Given the description of an element on the screen output the (x, y) to click on. 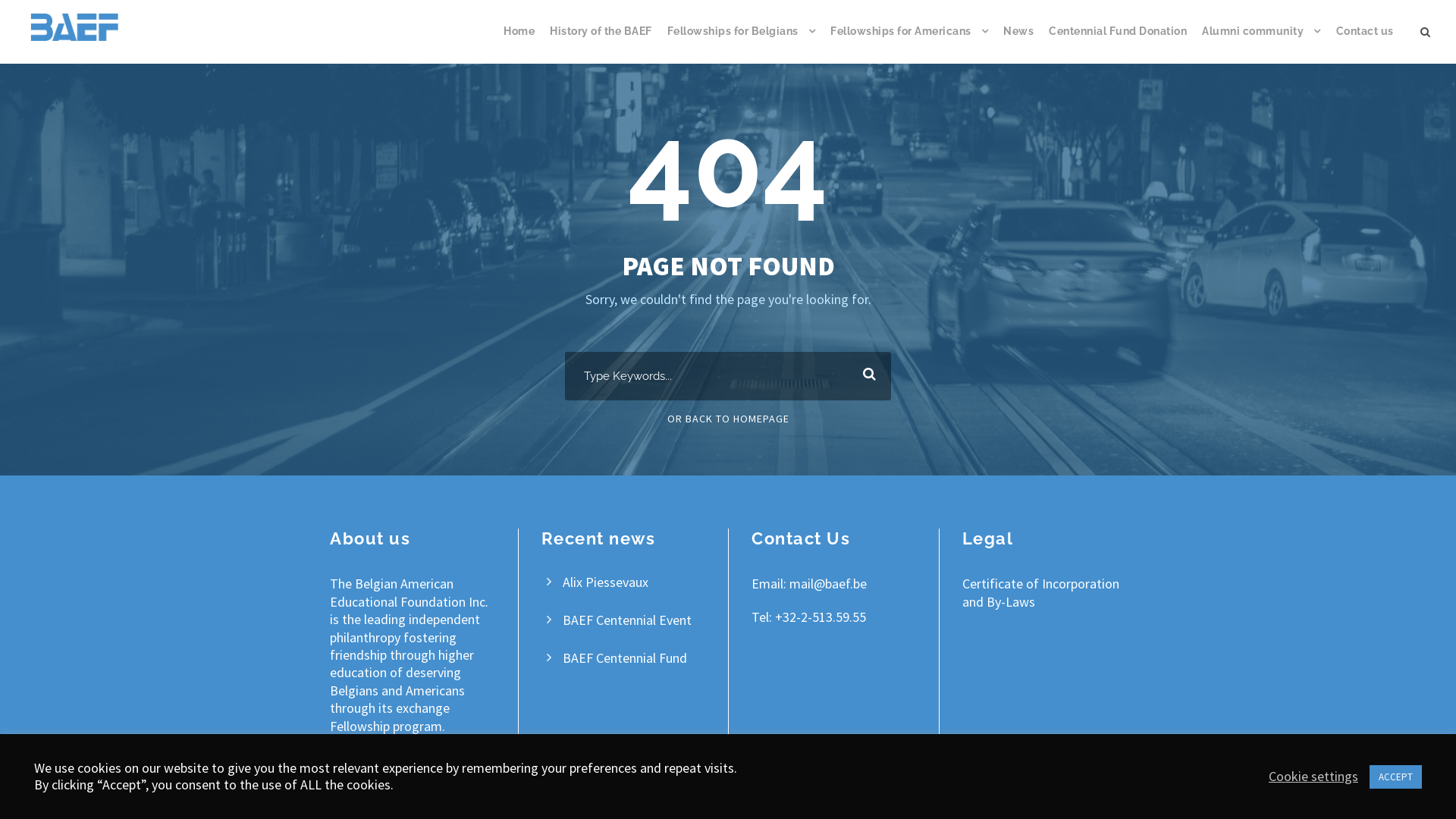
Fellowships for Belgians Element type: text (741, 42)
History of the BAEF Element type: text (600, 42)
Contact us Element type: text (1364, 42)
Alumni community Element type: text (1261, 42)
Home Element type: text (518, 42)
Search Element type: text (865, 375)
News Element type: text (1018, 42)
Centennial Fund Donation Element type: text (1117, 42)
BAEF Centennial Fund Element type: text (624, 657)
Alix Piessevaux Element type: text (605, 581)
ACCEPT Element type: text (1395, 775)
Certificate of Incorporation and By-Laws Element type: text (1039, 591)
mail@baef.be Element type: text (827, 583)
Cookie settings Element type: text (1313, 776)
Fellowships for Americans Element type: text (909, 42)
BAEF Centennial Event Element type: text (626, 619)
OR BACK TO HOMEPAGE Element type: text (728, 418)
BAEF Element type: hover (73, 27)
